Given the description of an element on the screen output the (x, y) to click on. 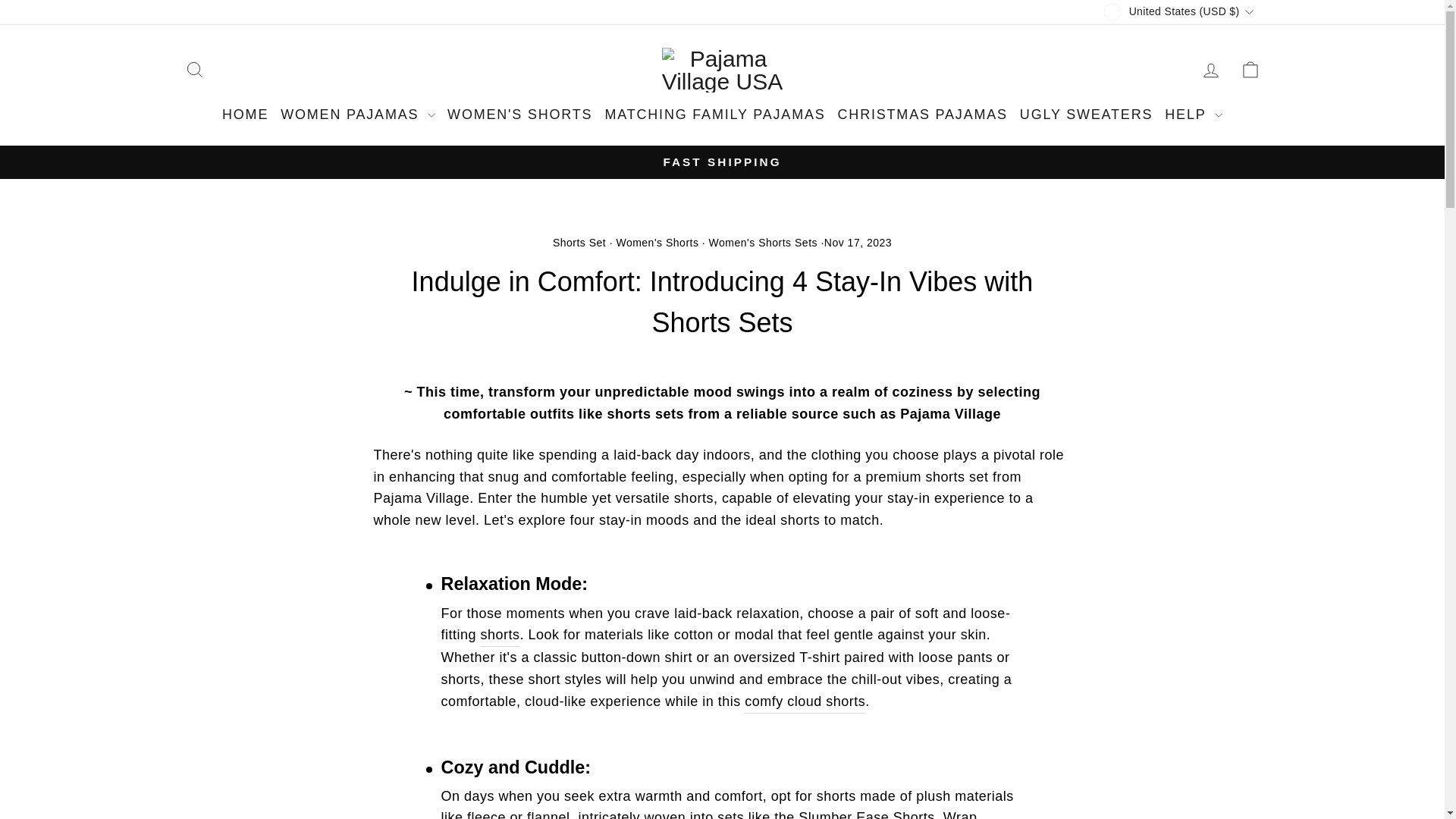
ACCOUNT (1210, 70)
ICON-SEARCH (194, 69)
ICON-BAG-MINIMAL (1249, 69)
